Given the description of an element on the screen output the (x, y) to click on. 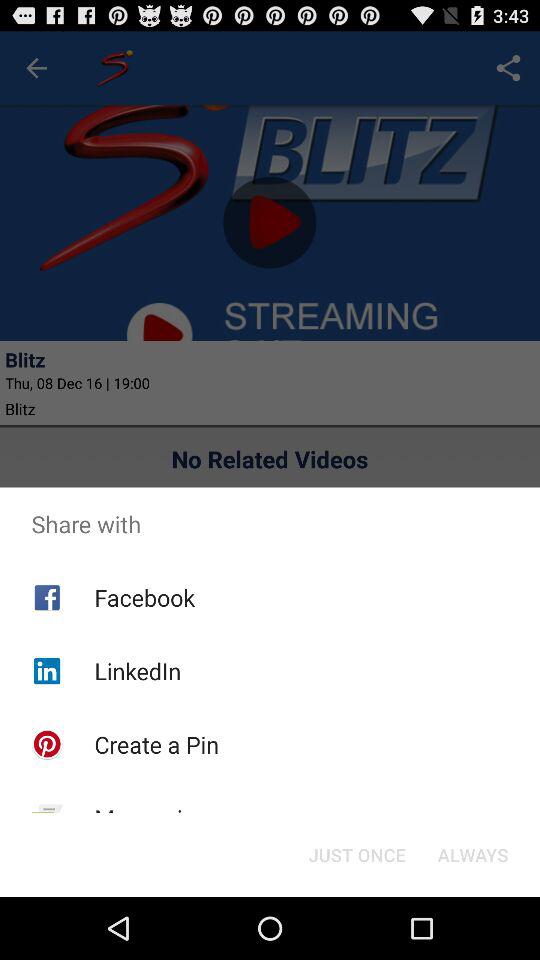
scroll until the linkedin icon (137, 670)
